Given the description of an element on the screen output the (x, y) to click on. 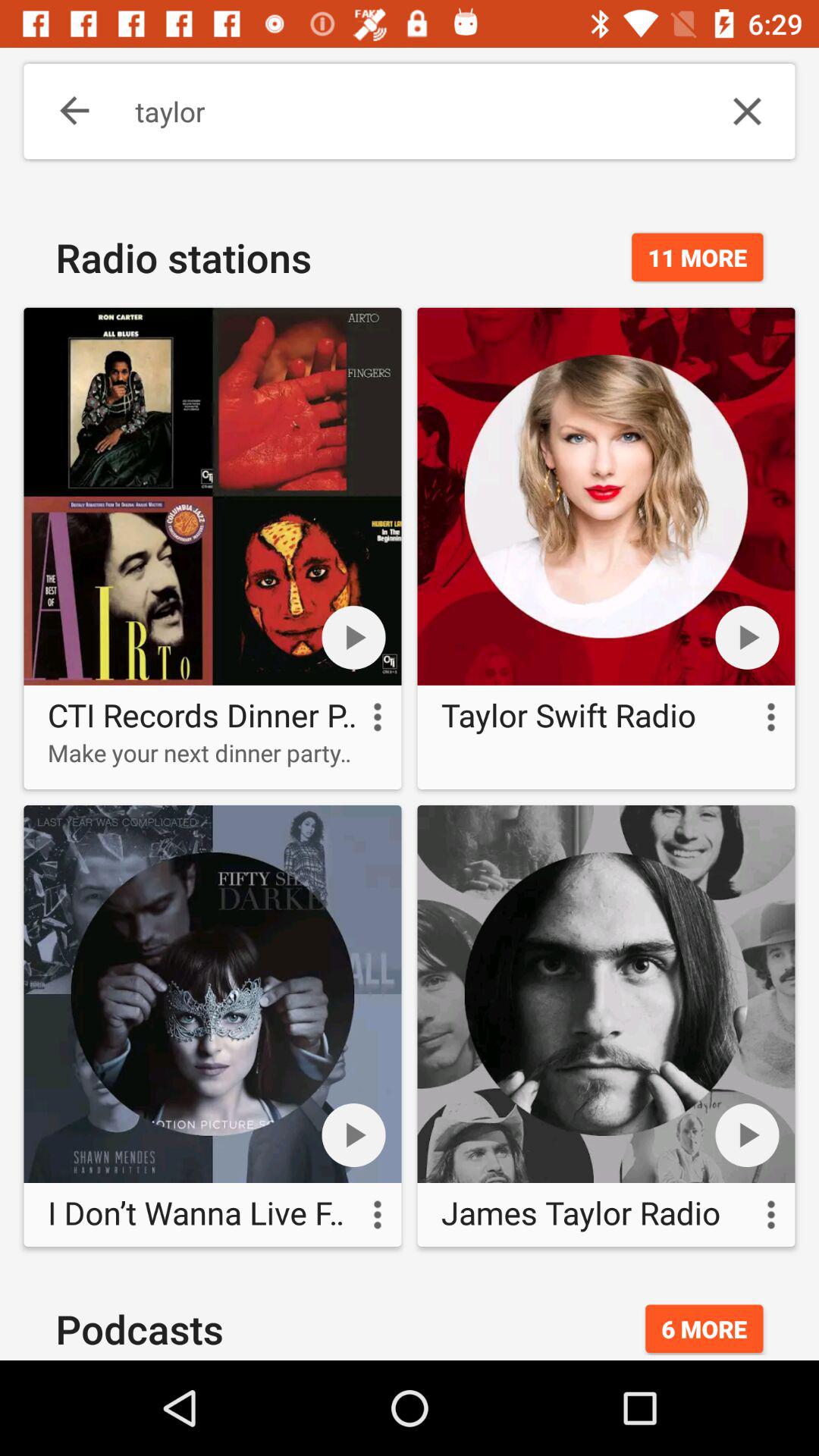
select item above the radio stations icon (63, 111)
